Given the description of an element on the screen output the (x, y) to click on. 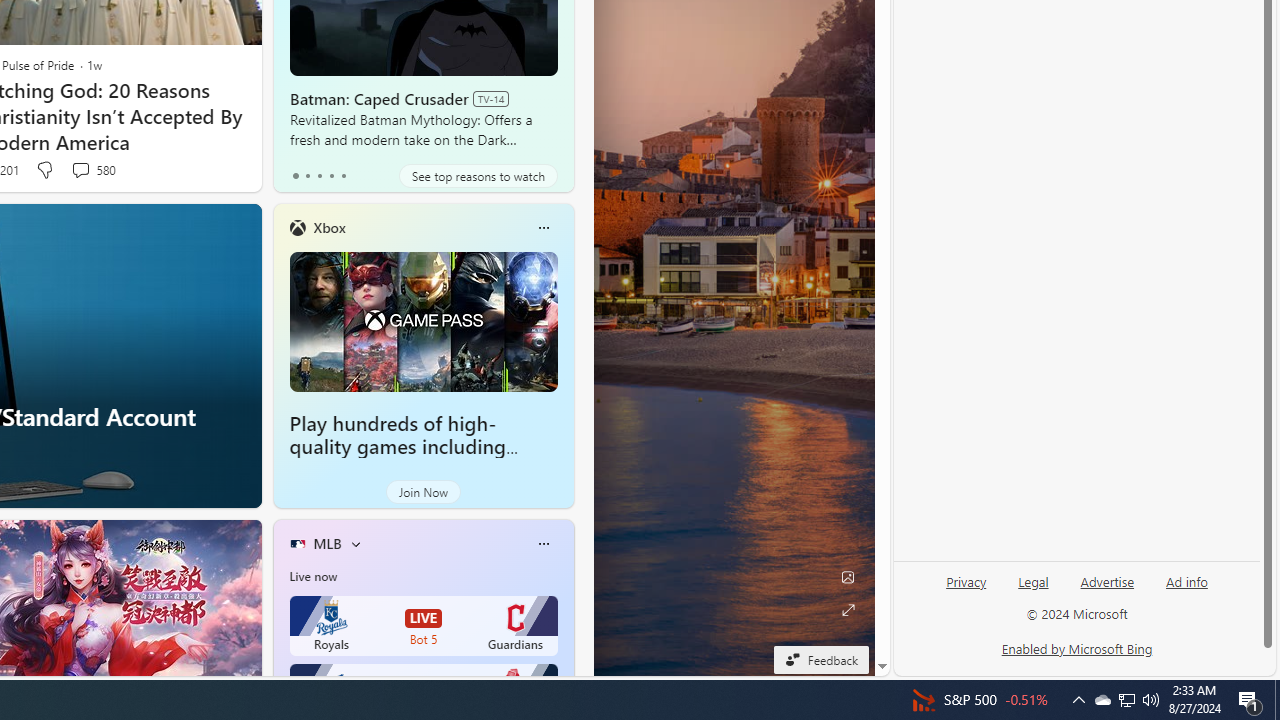
Royals LIVE Bot 5 Guardians (423, 625)
Xbox (329, 227)
View comments 580 Comment (92, 170)
Expand background (847, 610)
More interests (355, 543)
tab-3 (331, 175)
Join Now (423, 491)
